Given the description of an element on the screen output the (x, y) to click on. 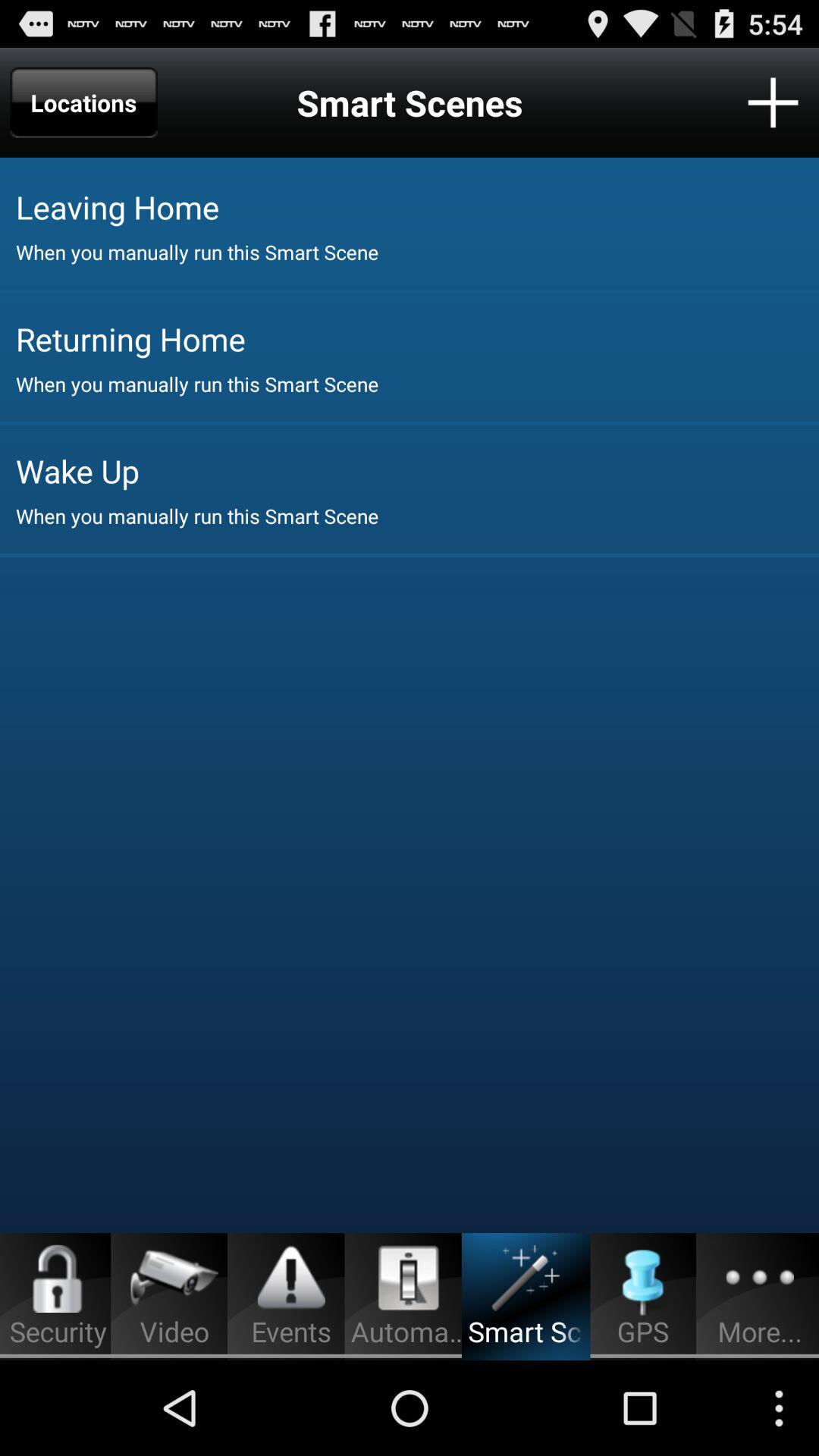
click returning home (417, 338)
